Given the description of an element on the screen output the (x, y) to click on. 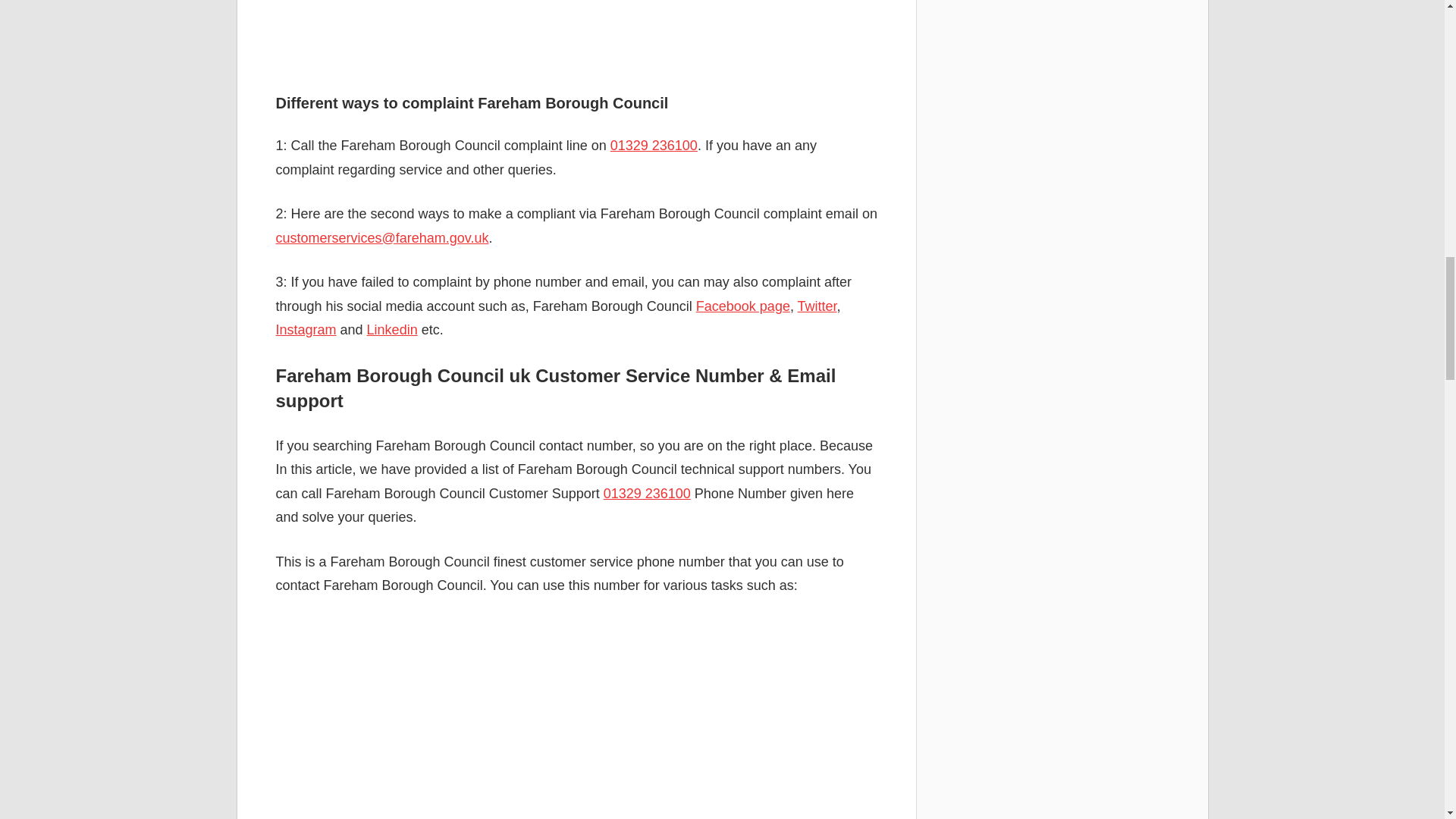
Advertisement (576, 719)
Advertisement (576, 40)
Instagram (306, 329)
Twitter (817, 305)
01329 236100 (653, 145)
01329 236100 (647, 493)
Facebook page (742, 305)
Linkedin (391, 329)
